Given the description of an element on the screen output the (x, y) to click on. 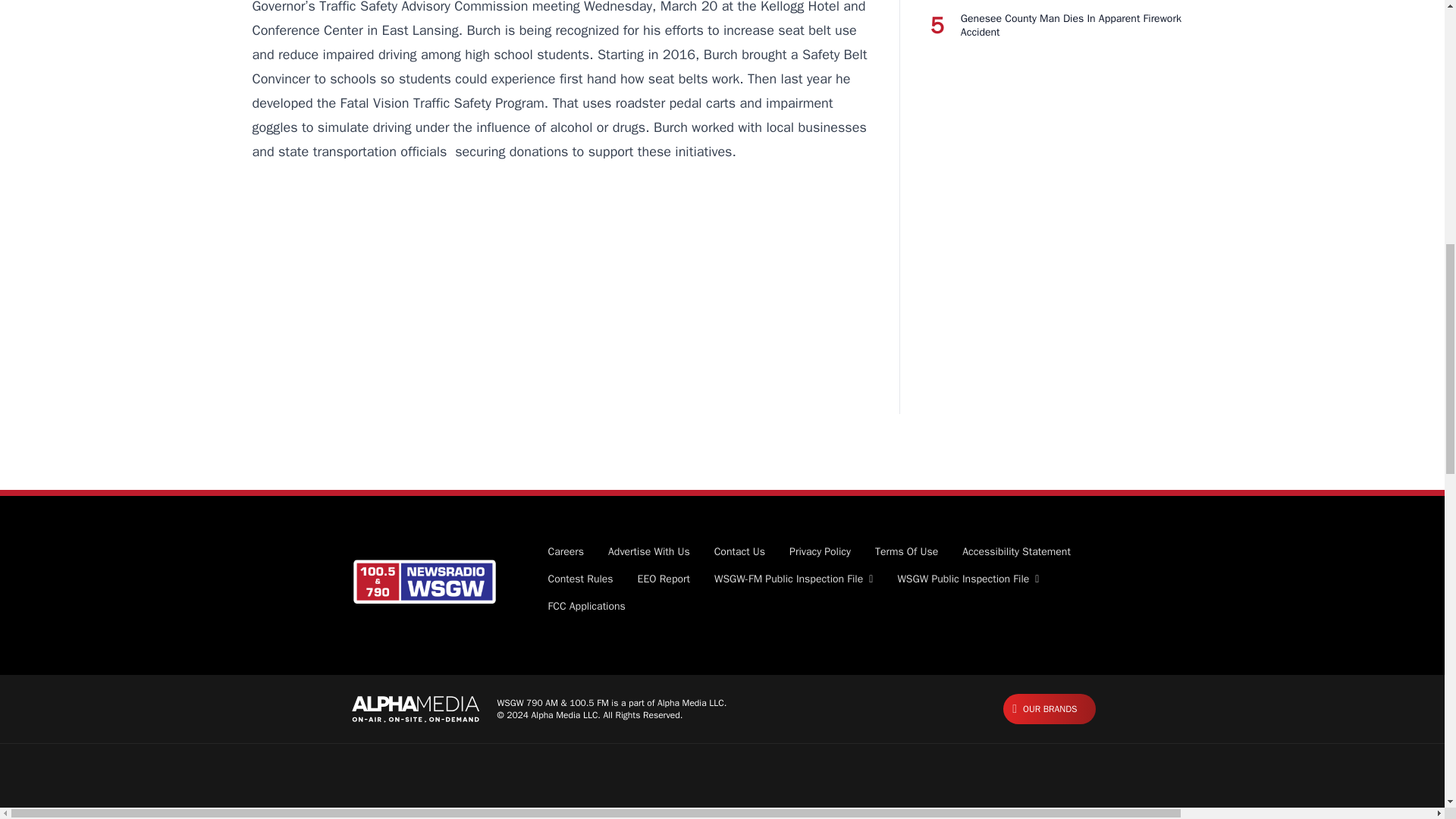
3rd party ad content (560, 289)
